Given the description of an element on the screen output the (x, y) to click on. 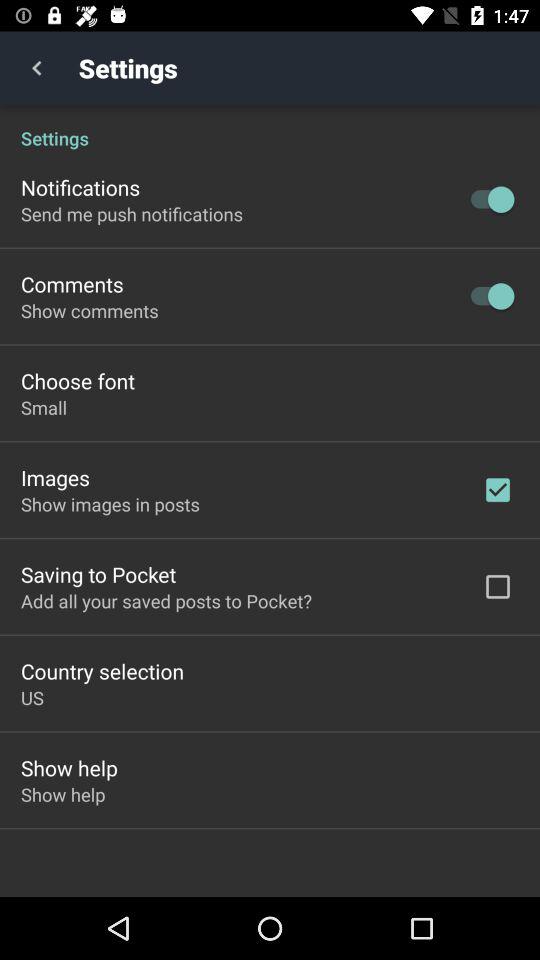
select the icon below saving to pocket icon (166, 600)
